Given the description of an element on the screen output the (x, y) to click on. 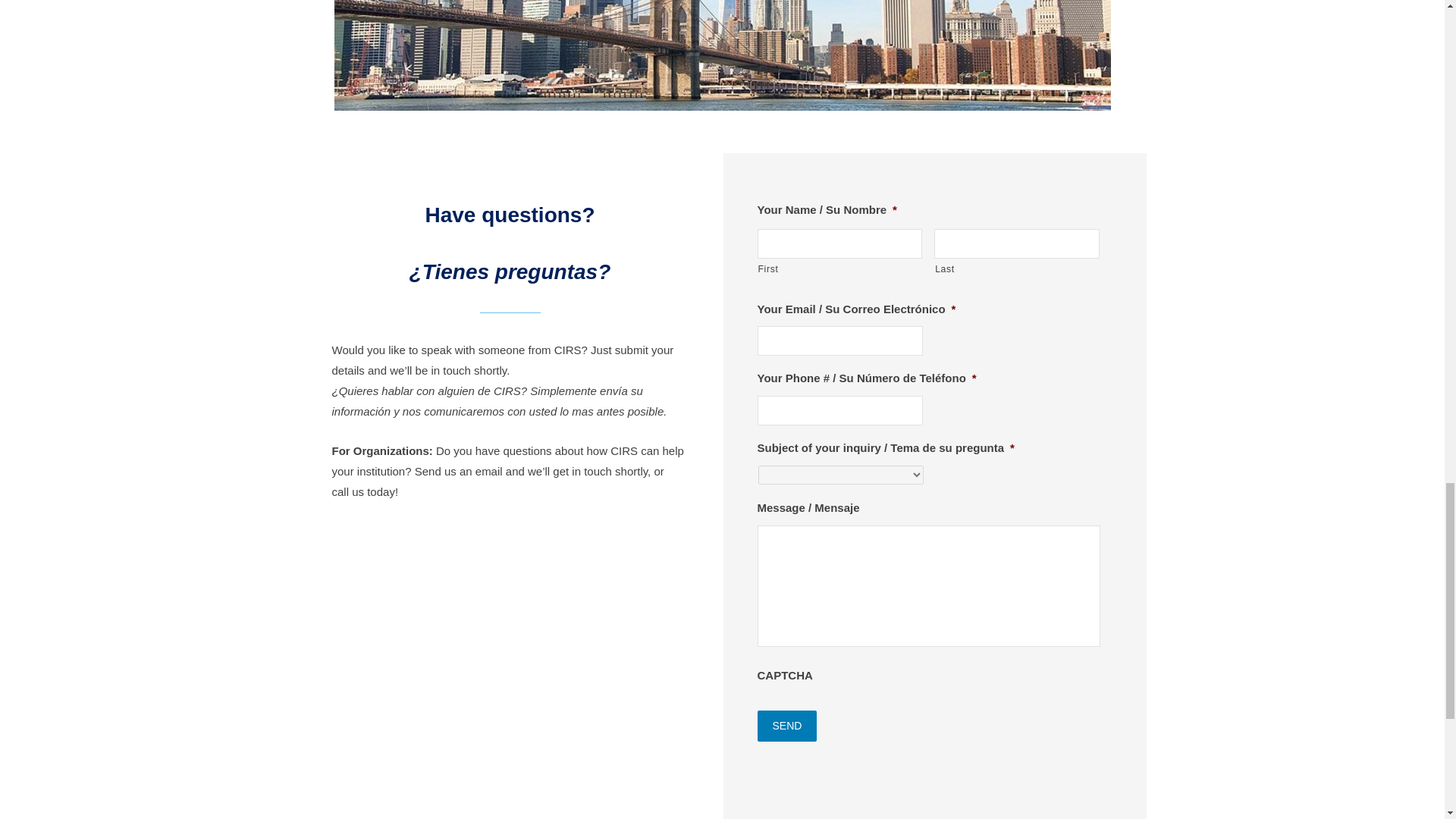
nyc-skyline (721, 55)
Send (786, 726)
